Given the description of an element on the screen output the (x, y) to click on. 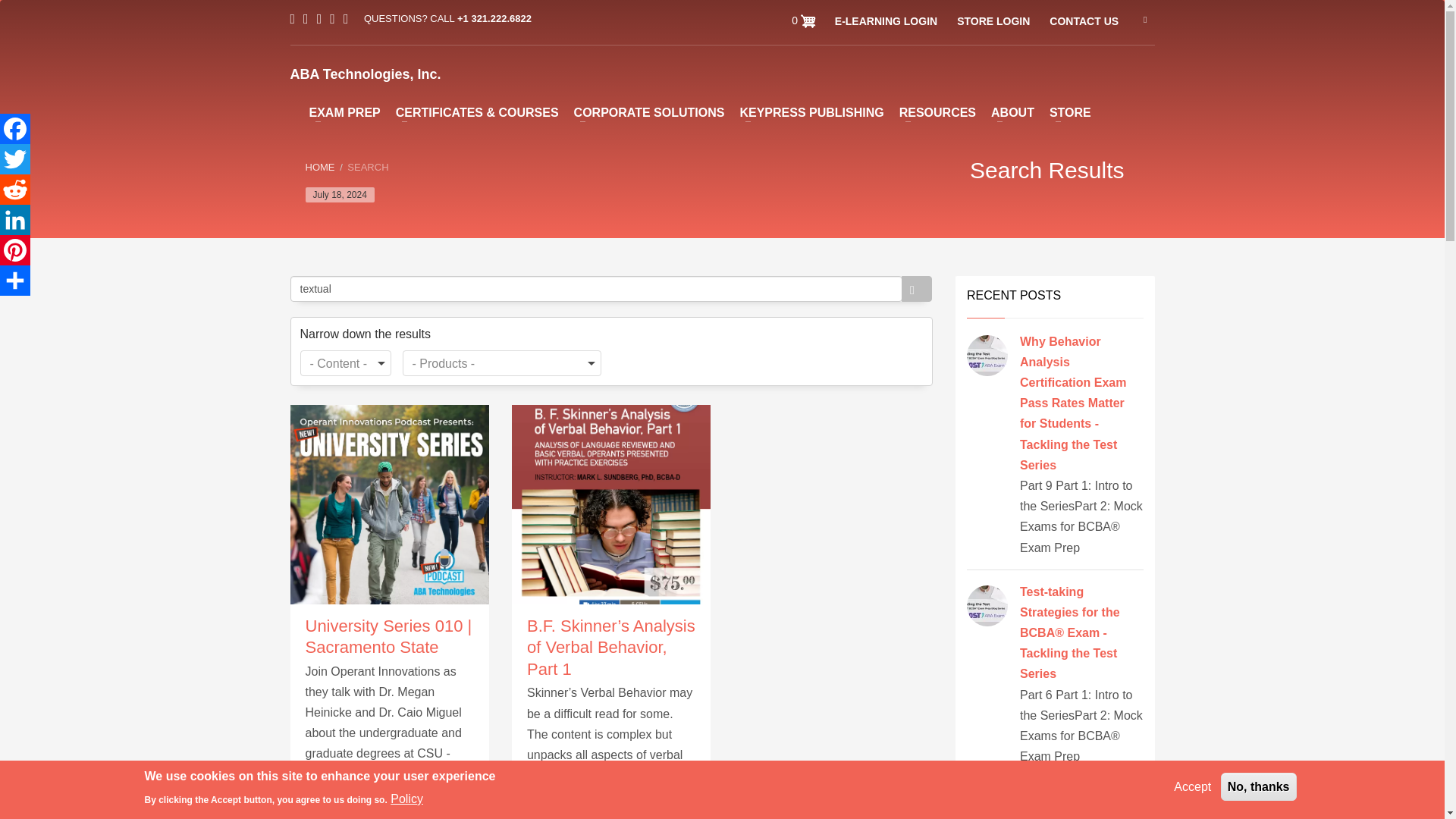
ABA Technologies, Inc. Store (1069, 112)
ABA Technologies, Inc. (365, 74)
Contact Us (1083, 21)
CONTACT US (1083, 21)
EXAM PREP (344, 112)
Access your courses here (885, 21)
textual (595, 289)
Home (365, 74)
STORE LOGIN (993, 21)
0 (804, 20)
Login to your store account (993, 21)
CORPORATE SOLUTIONS (649, 112)
E-LEARNING LOGIN (885, 21)
